Given the description of an element on the screen output the (x, y) to click on. 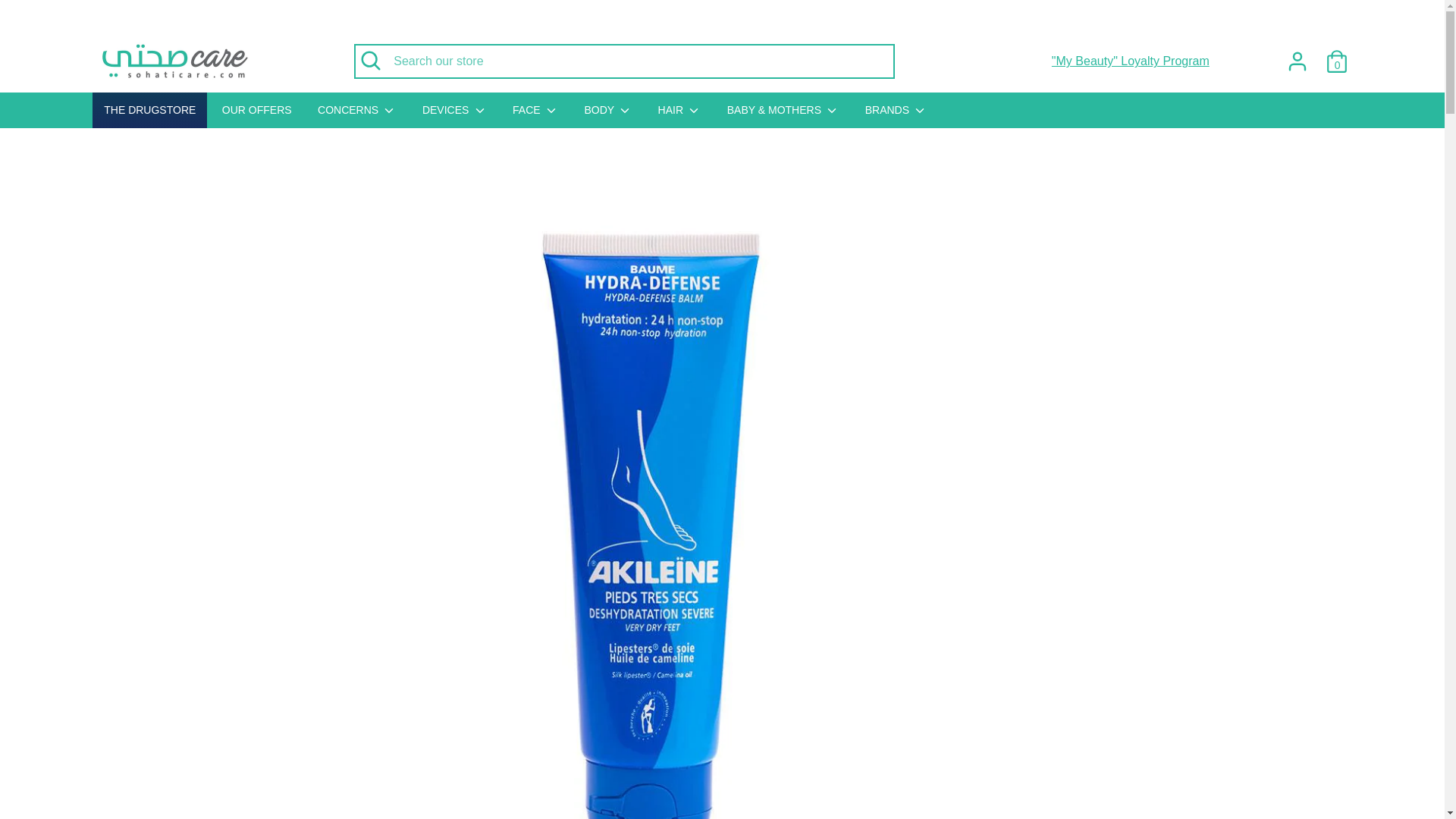
"My Beauty" Loyalty Program (1128, 60)
0 (1337, 55)
